Given the description of an element on the screen output the (x, y) to click on. 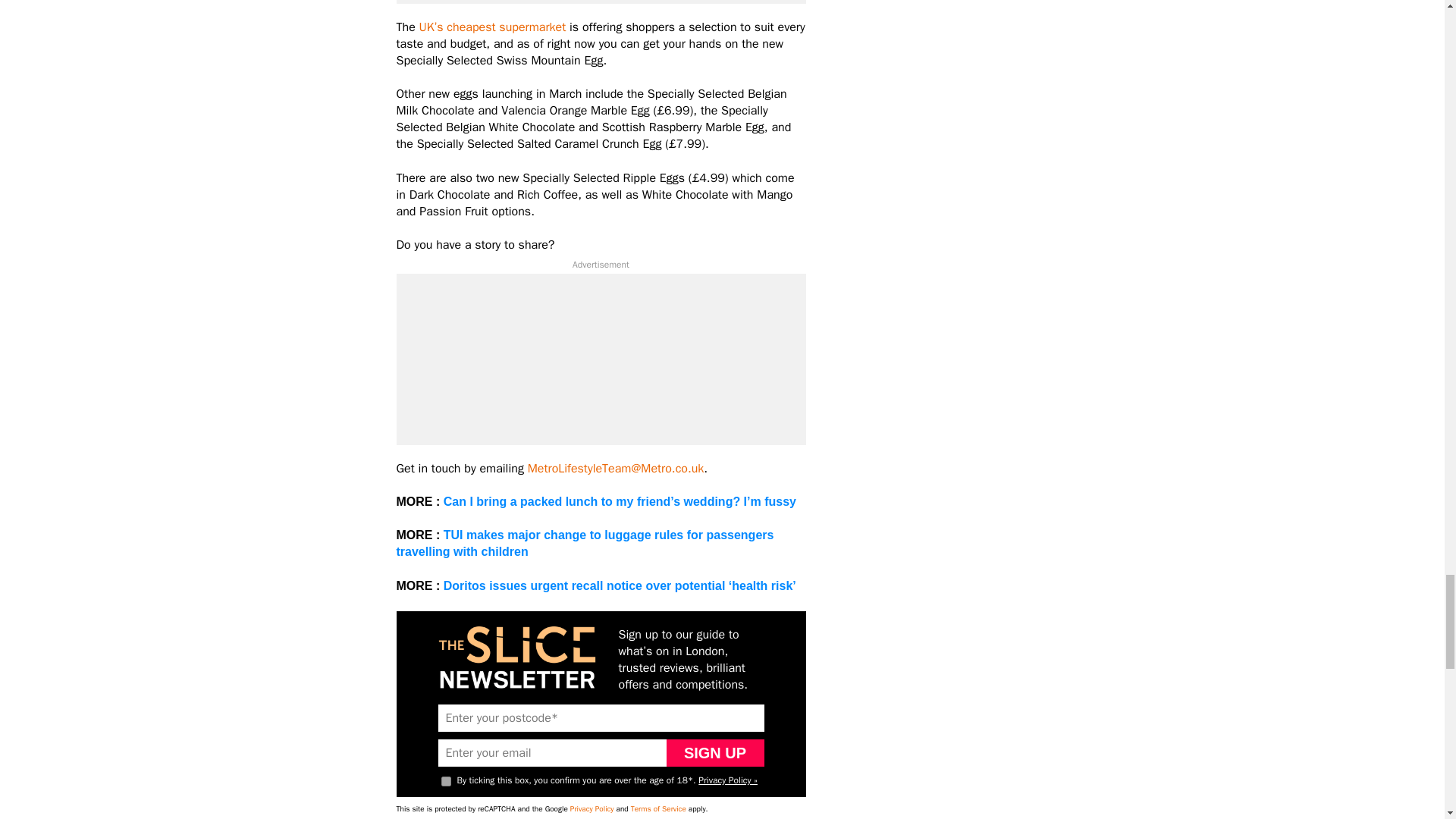
true (446, 781)
